Given the description of an element on the screen output the (x, y) to click on. 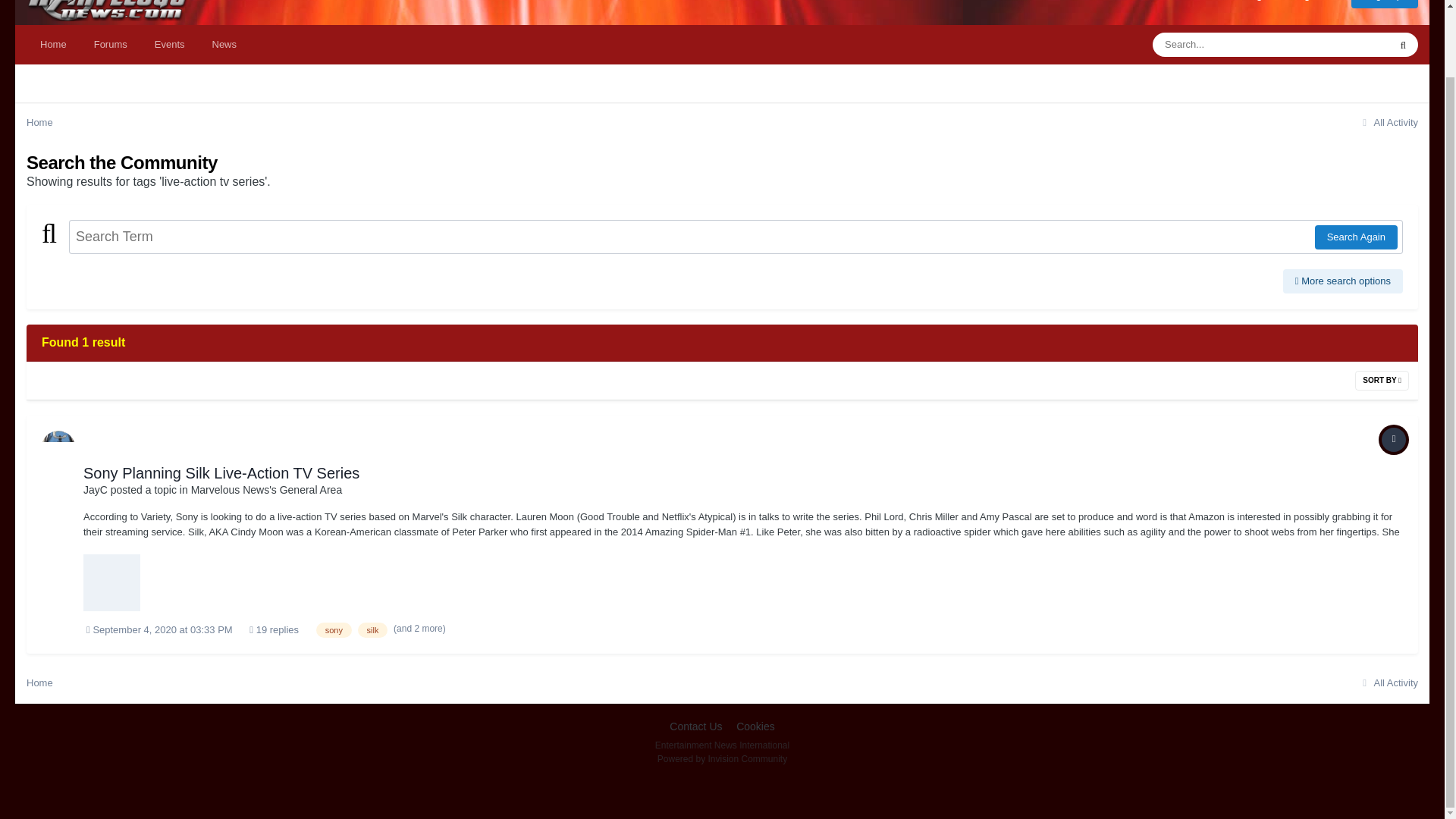
Home (53, 44)
Find other content tagged with 'silk' (373, 630)
More search options (1342, 281)
Sign Up (1384, 3)
Events (169, 44)
Go to JayC's profile (94, 490)
Find other content tagged with 'sony' (333, 630)
Invision Community (722, 758)
Topic (1393, 439)
